Given the description of an element on the screen output the (x, y) to click on. 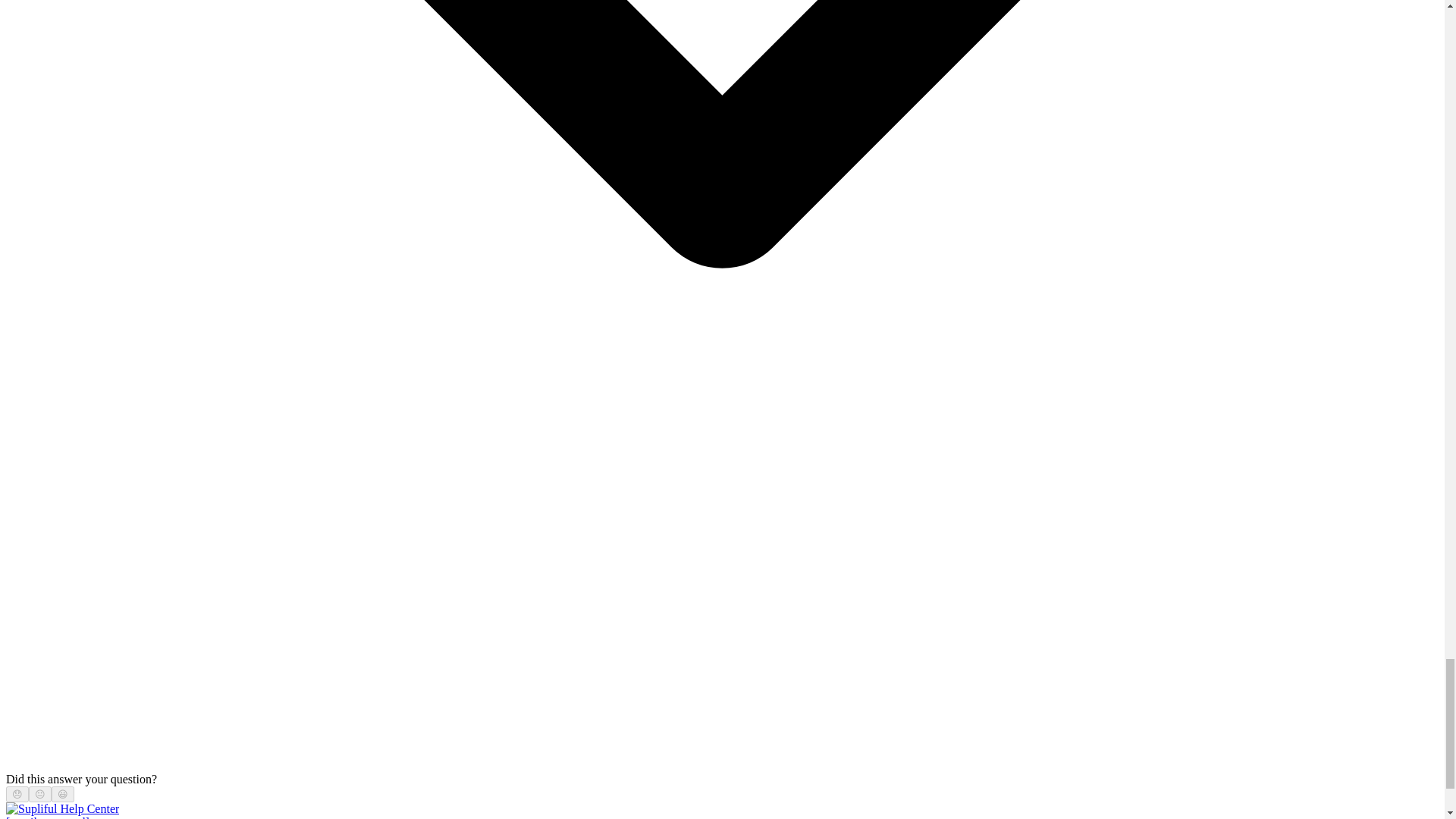
Disappointed (17, 794)
Smiley (63, 794)
Neutral (39, 794)
